Given the description of an element on the screen output the (x, y) to click on. 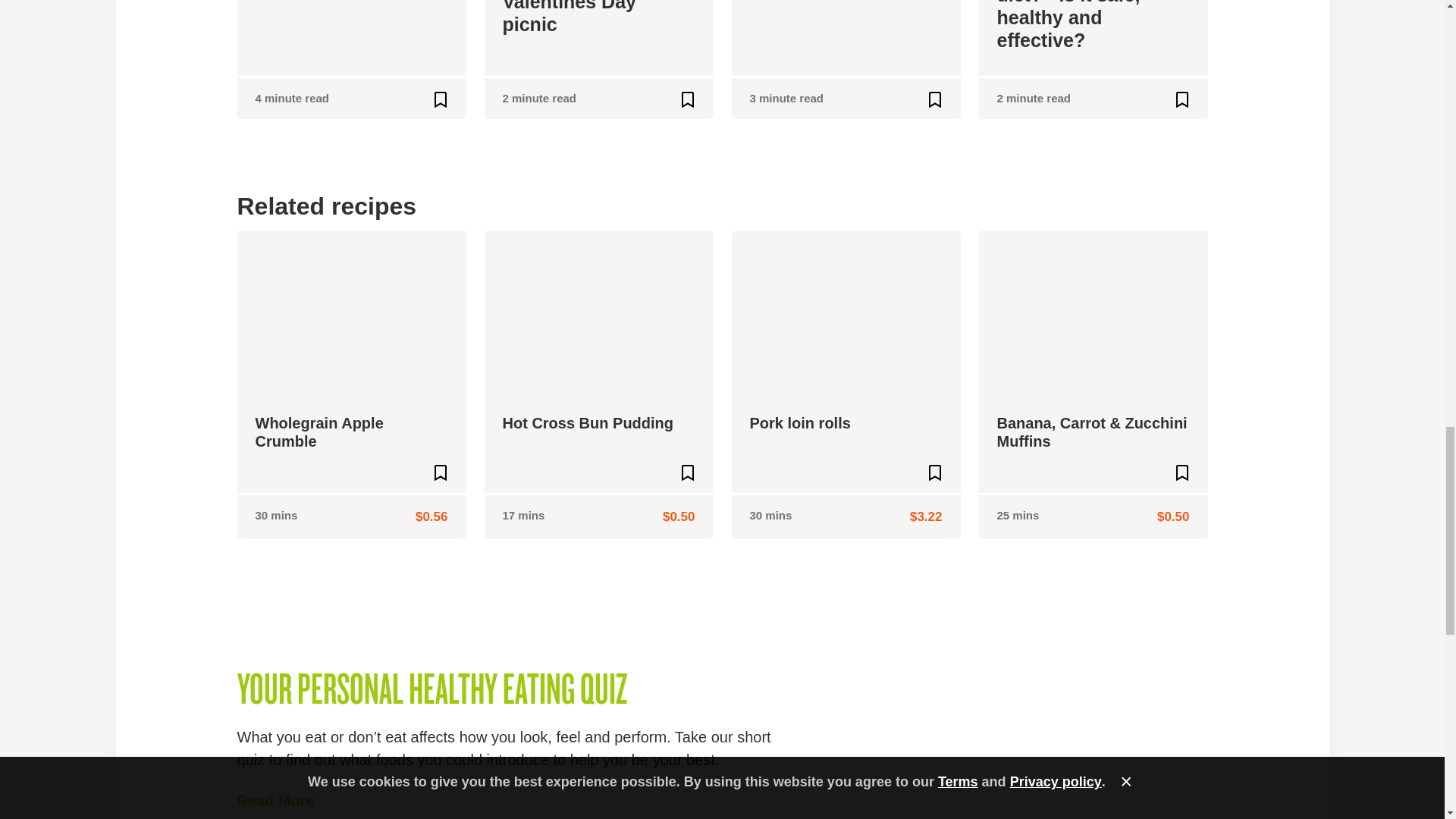
Add to favourites (439, 472)
Add to favourites (1181, 99)
Add to favourites (1181, 472)
Add to favourites (934, 99)
Read More (277, 800)
Add to favourites (934, 472)
Add to favourites (686, 99)
